Given the description of an element on the screen output the (x, y) to click on. 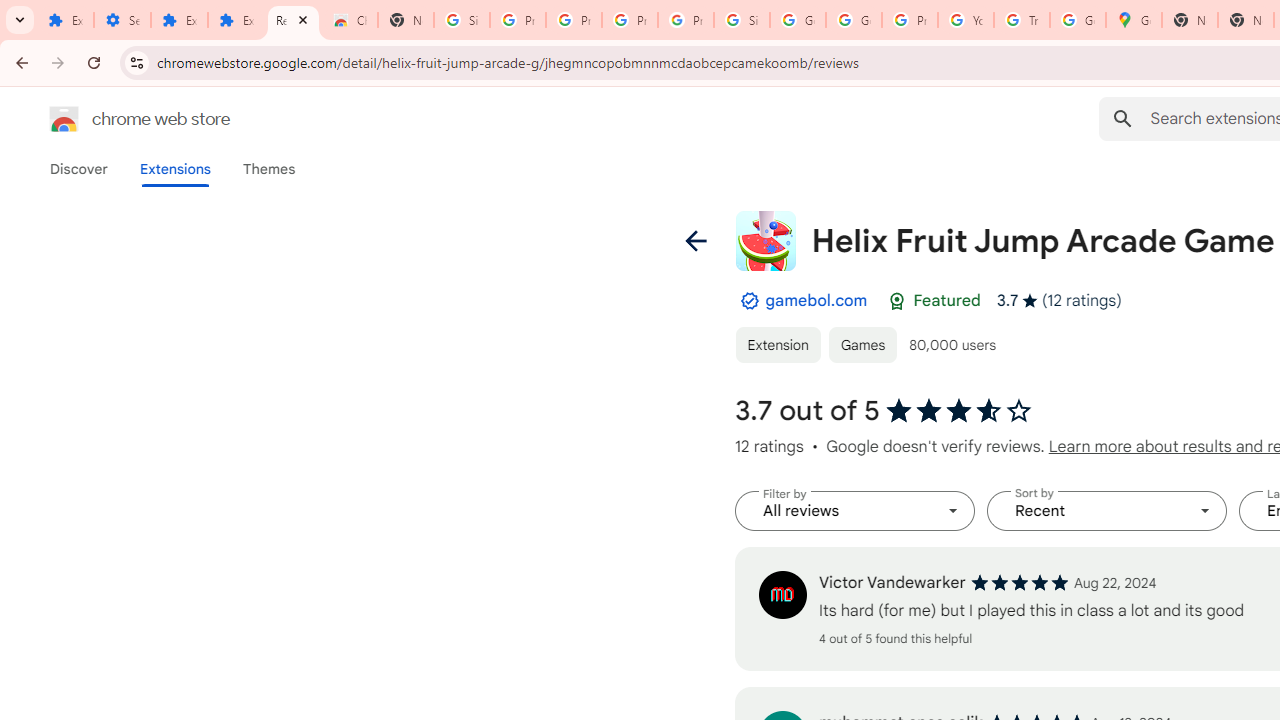
Review's profile picture (782, 594)
New Tab (405, 20)
Chrome Web Store logo chrome web store (118, 118)
Extensions (179, 20)
New Tab (1190, 20)
gamebol.com (816, 300)
Extensions (235, 20)
Themes (269, 169)
